Given the description of an element on the screen output the (x, y) to click on. 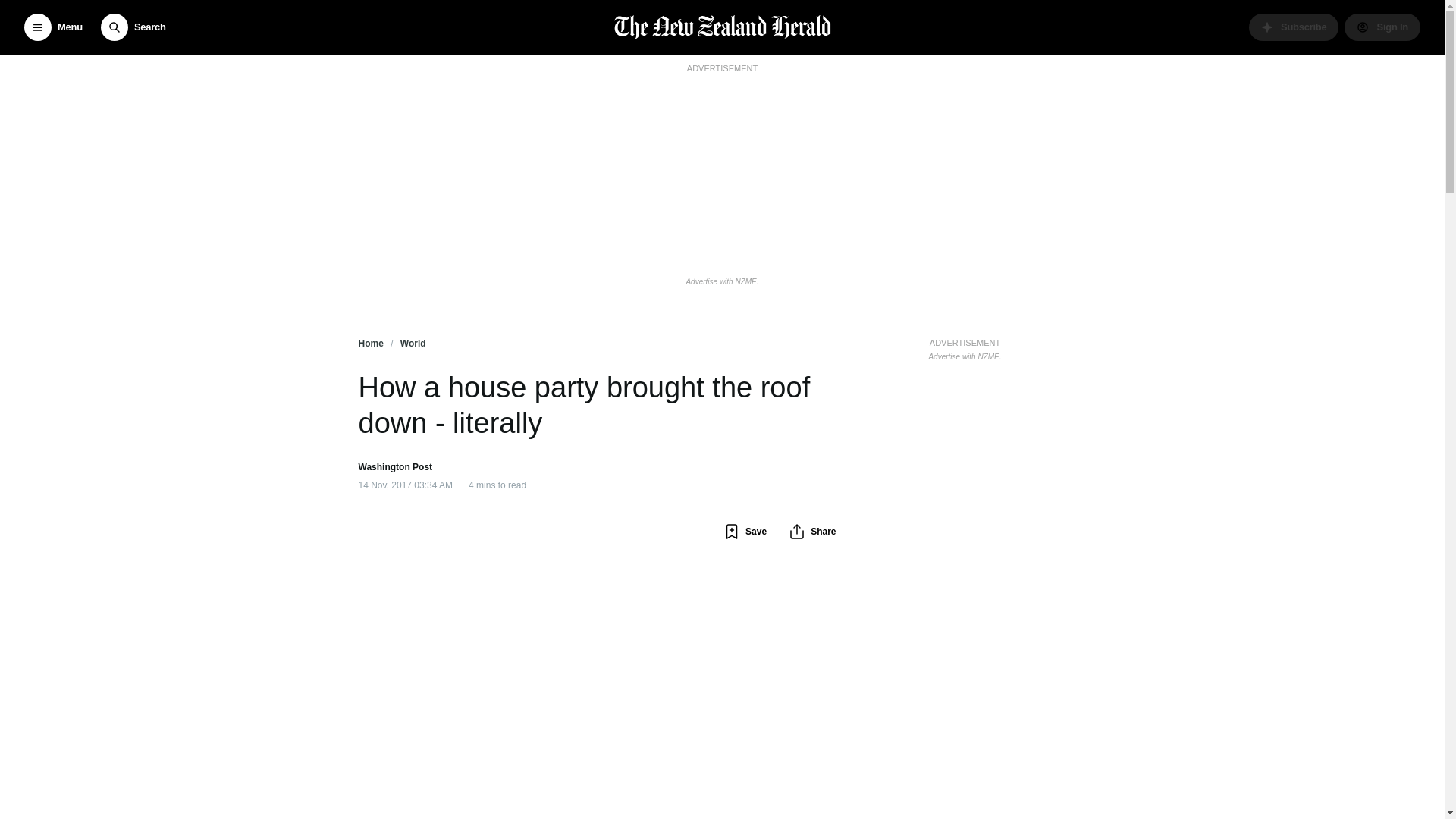
Sign In (1382, 26)
Menu (53, 26)
Search (132, 26)
Manage your account (1382, 26)
Subscribe (1294, 26)
